Given the description of an element on the screen output the (x, y) to click on. 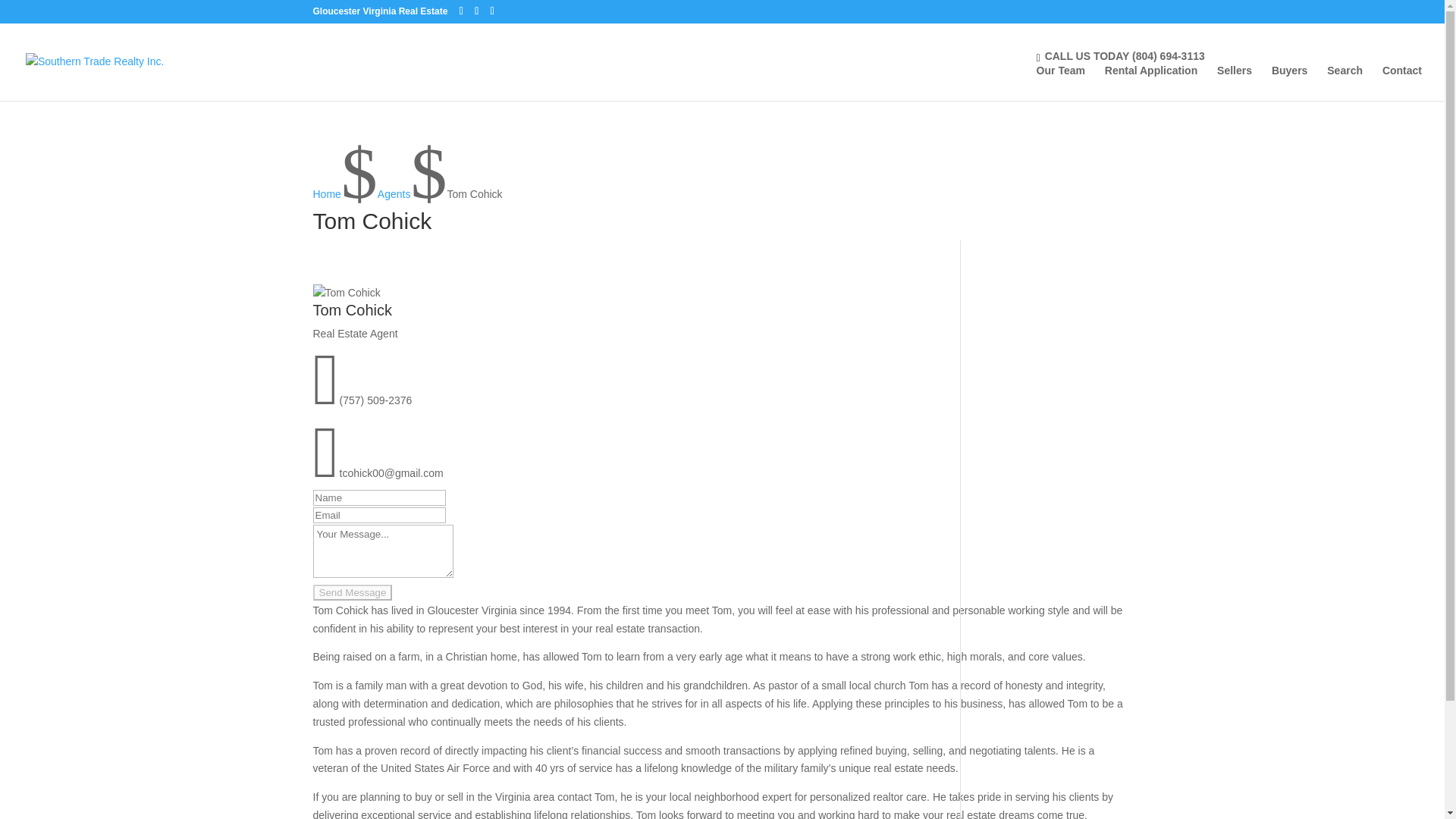
Sellers (1234, 82)
Our Team (1060, 82)
Rental Application (1150, 82)
Go to Southern Trade Realty Inc.. (326, 193)
Go to Agents. (393, 193)
Home (326, 193)
Search (1344, 82)
Buyers (1289, 82)
Contact (1401, 82)
Send Message (352, 592)
Send Message (352, 592)
Agents (393, 193)
